Given the description of an element on the screen output the (x, y) to click on. 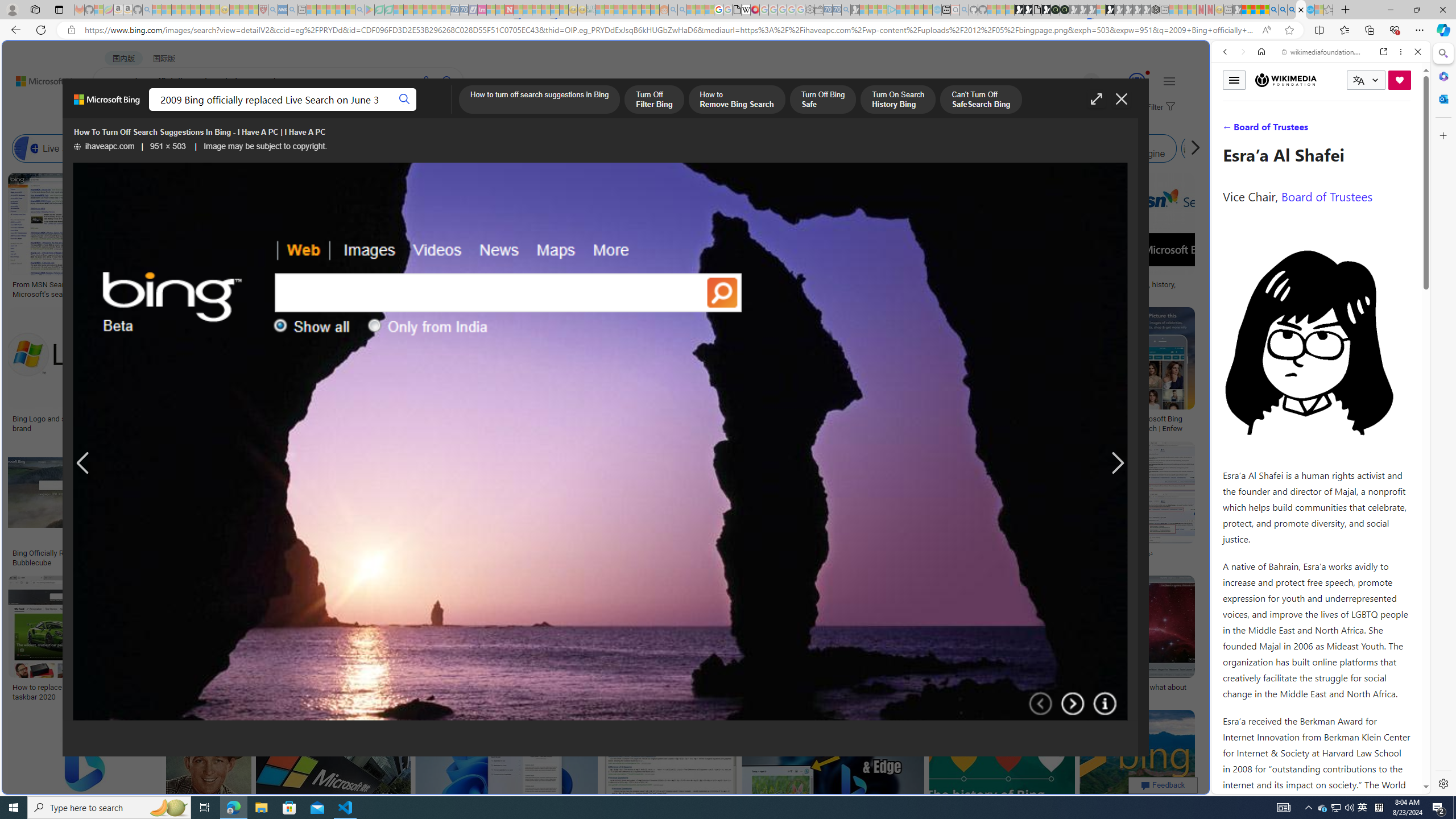
Kinda Frugal - MSN - Sleeping (636, 9)
Wallet - Sleeping (818, 9)
google_privacy_policy_zh-CN.pdf (736, 9)
Bing Picture Search Engine (224, 148)
Microsoft Start Gaming - Sleeping (854, 9)
Image may be subject to copyright. (265, 146)
Technology History timeline | Timetoast timelines (833, 289)
Preferences (1403, 129)
